Given the description of an element on the screen output the (x, y) to click on. 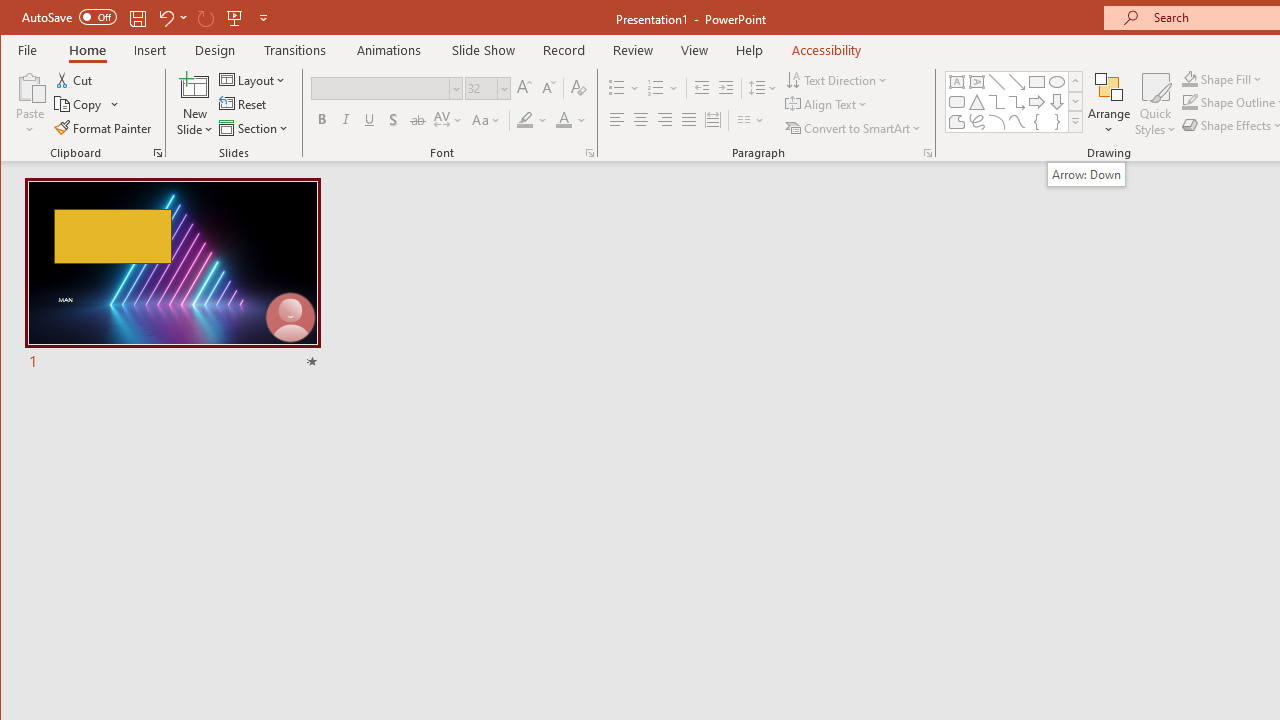
Increase Indent (726, 88)
Text Highlight Color Yellow (525, 119)
Font Color Red (563, 119)
Align Left (616, 119)
Clear Formatting (579, 88)
